Given the description of an element on the screen output the (x, y) to click on. 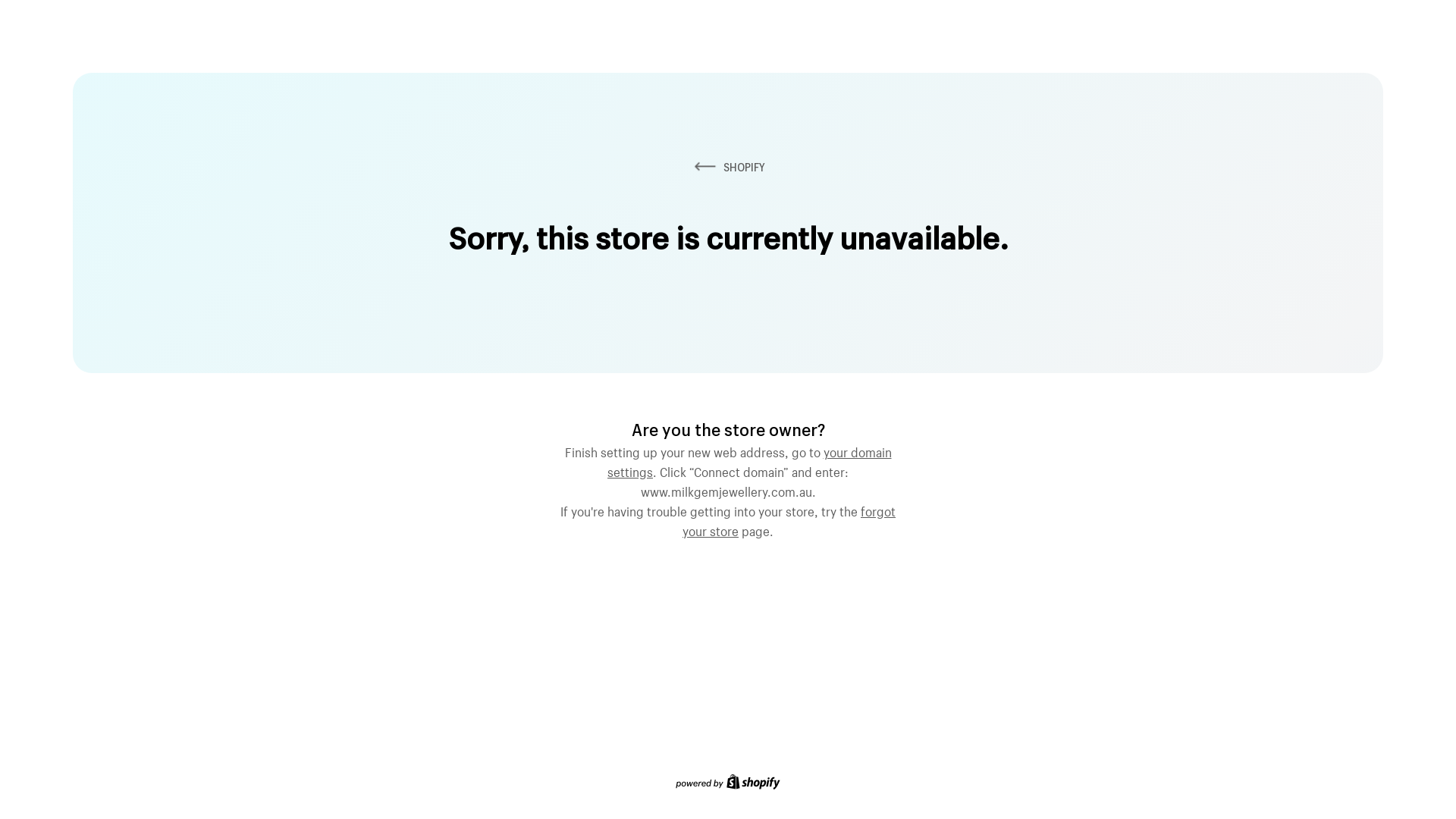
SHOPIFY Element type: text (727, 167)
your domain settings Element type: text (749, 460)
forgot your store Element type: text (788, 519)
